Given the description of an element on the screen output the (x, y) to click on. 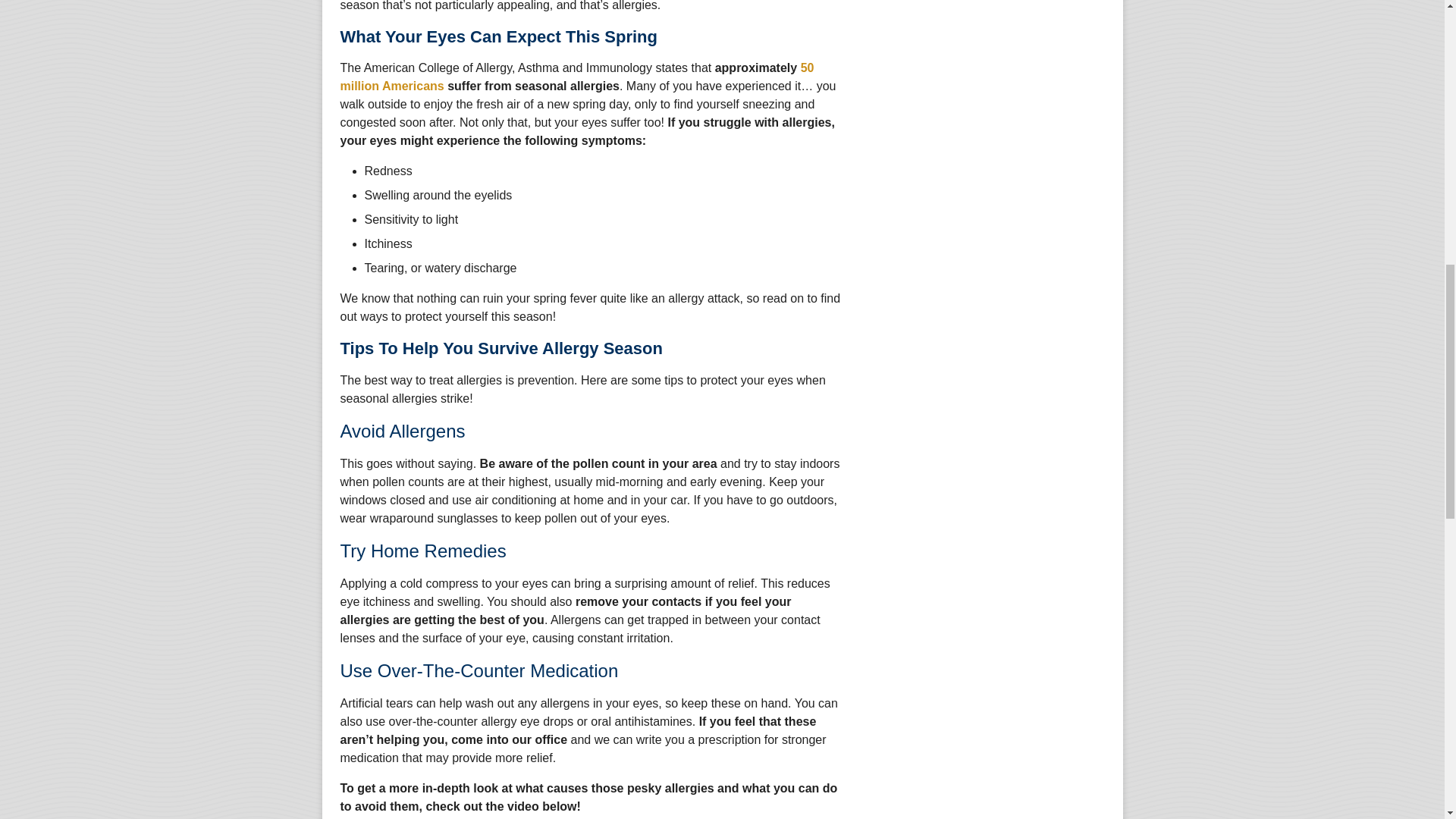
50 million Americans (576, 76)
